Given the description of an element on the screen output the (x, y) to click on. 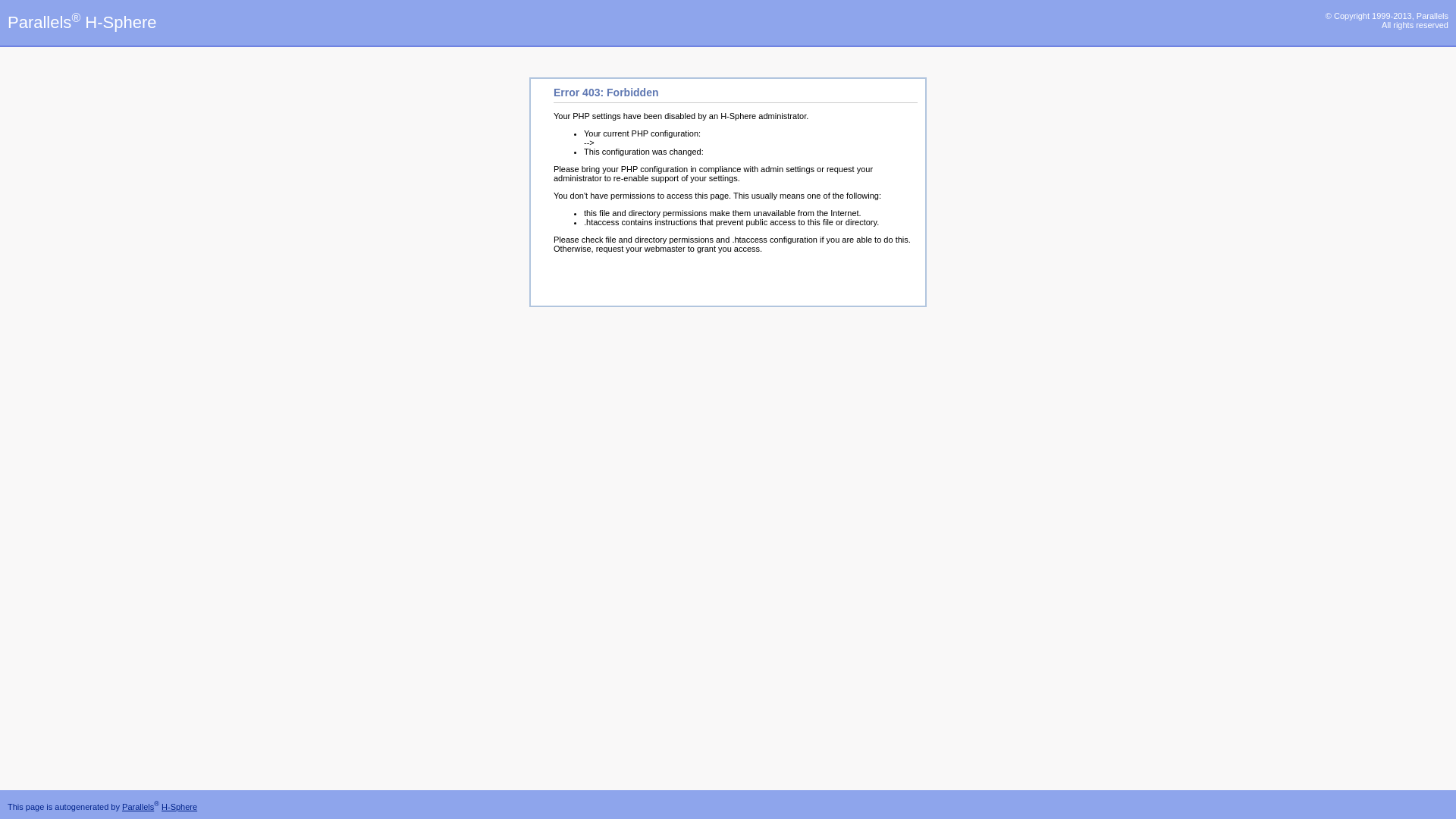
H-Sphere Element type: text (179, 806)
Parallels Element type: text (137, 806)
